Given the description of an element on the screen output the (x, y) to click on. 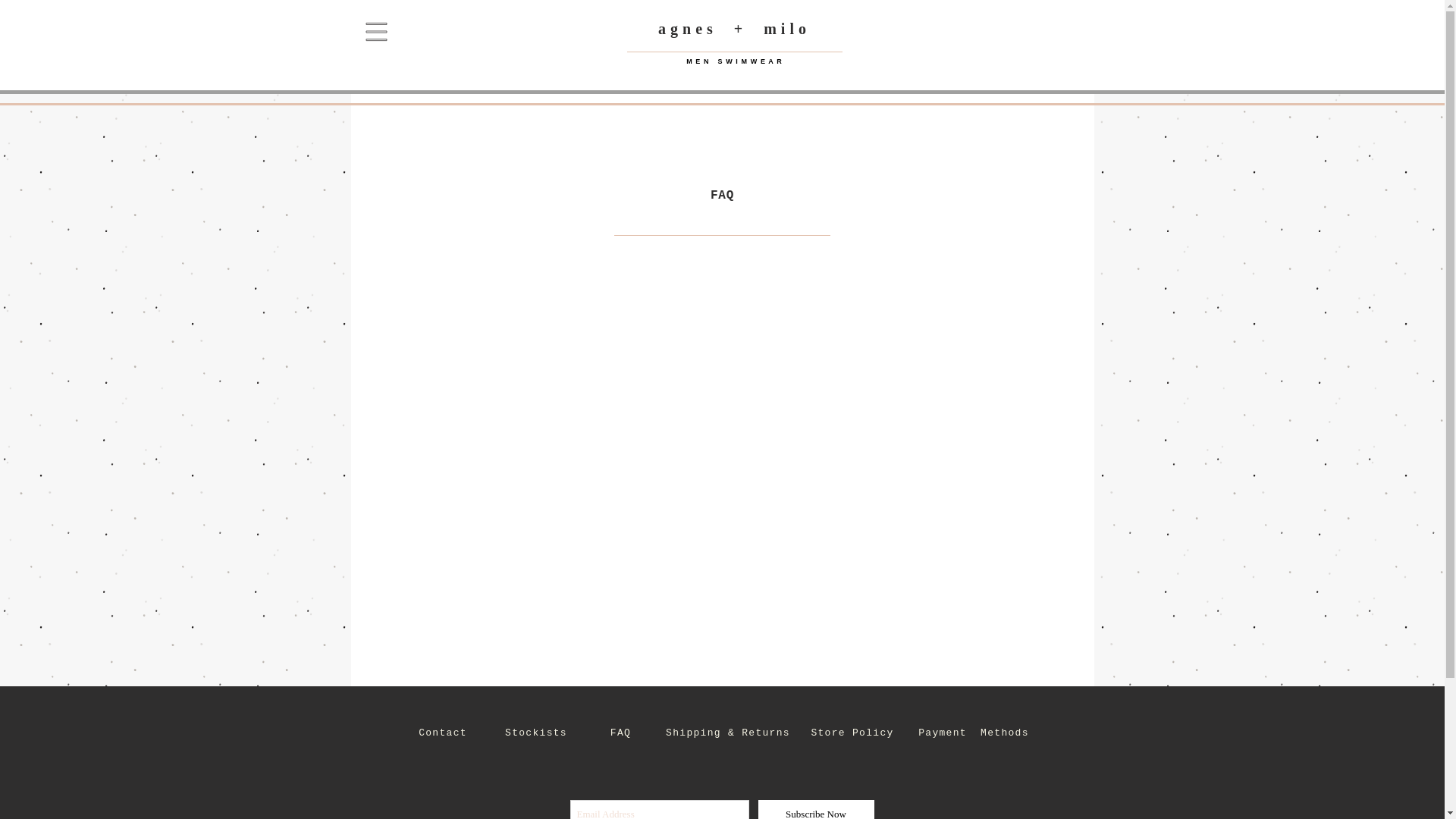
Store Policy (851, 732)
Payment  Methods (973, 732)
M E N   S W I M W E A R (734, 61)
Subscribe Now (816, 809)
Stockists (536, 732)
Contact (443, 732)
FAQ (620, 732)
